Given the description of an element on the screen output the (x, y) to click on. 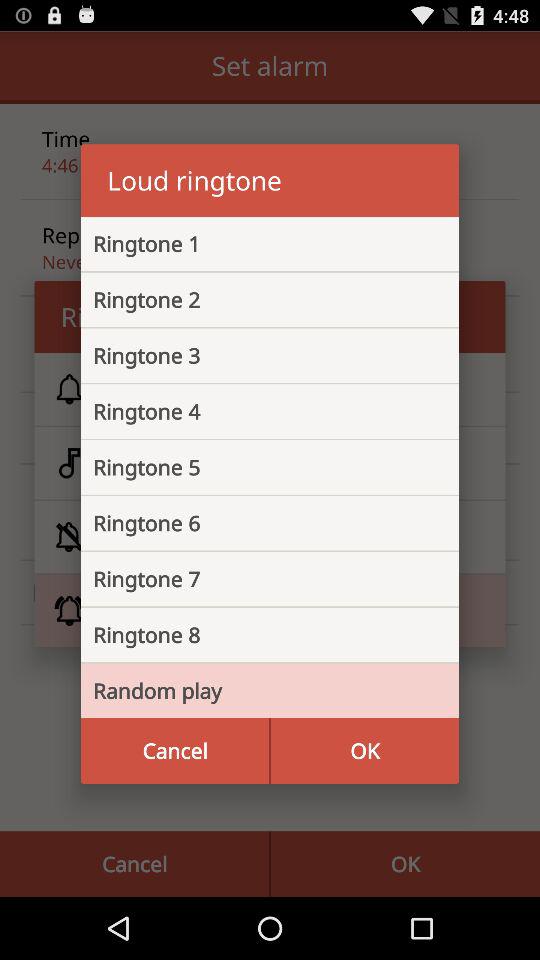
tap the item below the ringtone 7 (254, 635)
